Given the description of an element on the screen output the (x, y) to click on. 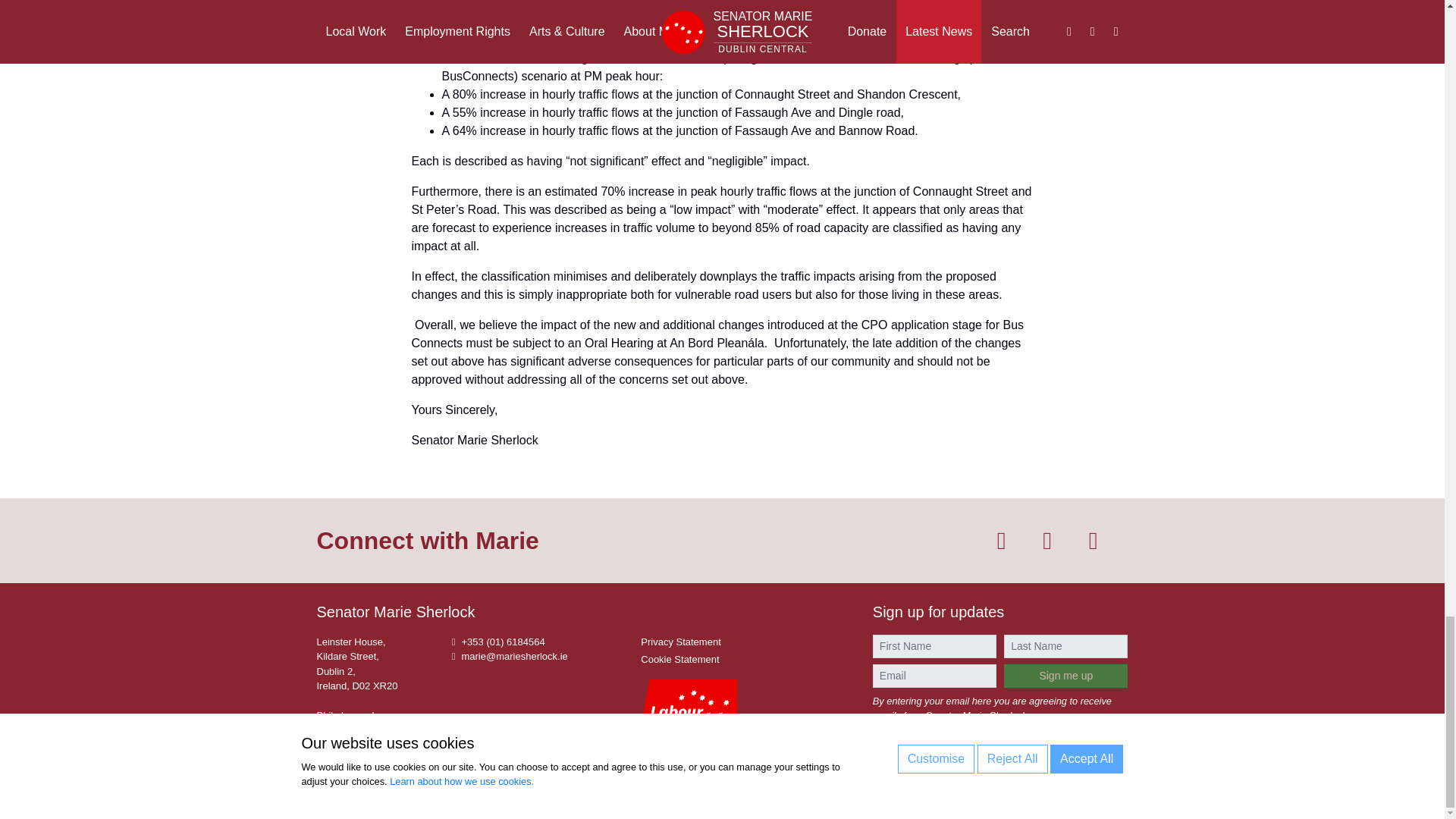
Site developed by the Digital Revolutionaries (1092, 791)
Digital Revolutionaries (1092, 791)
Cookie Statement (679, 659)
Connect with Marie (427, 540)
Privacy Statement (680, 641)
Sign me up (1065, 675)
